Given the description of an element on the screen output the (x, y) to click on. 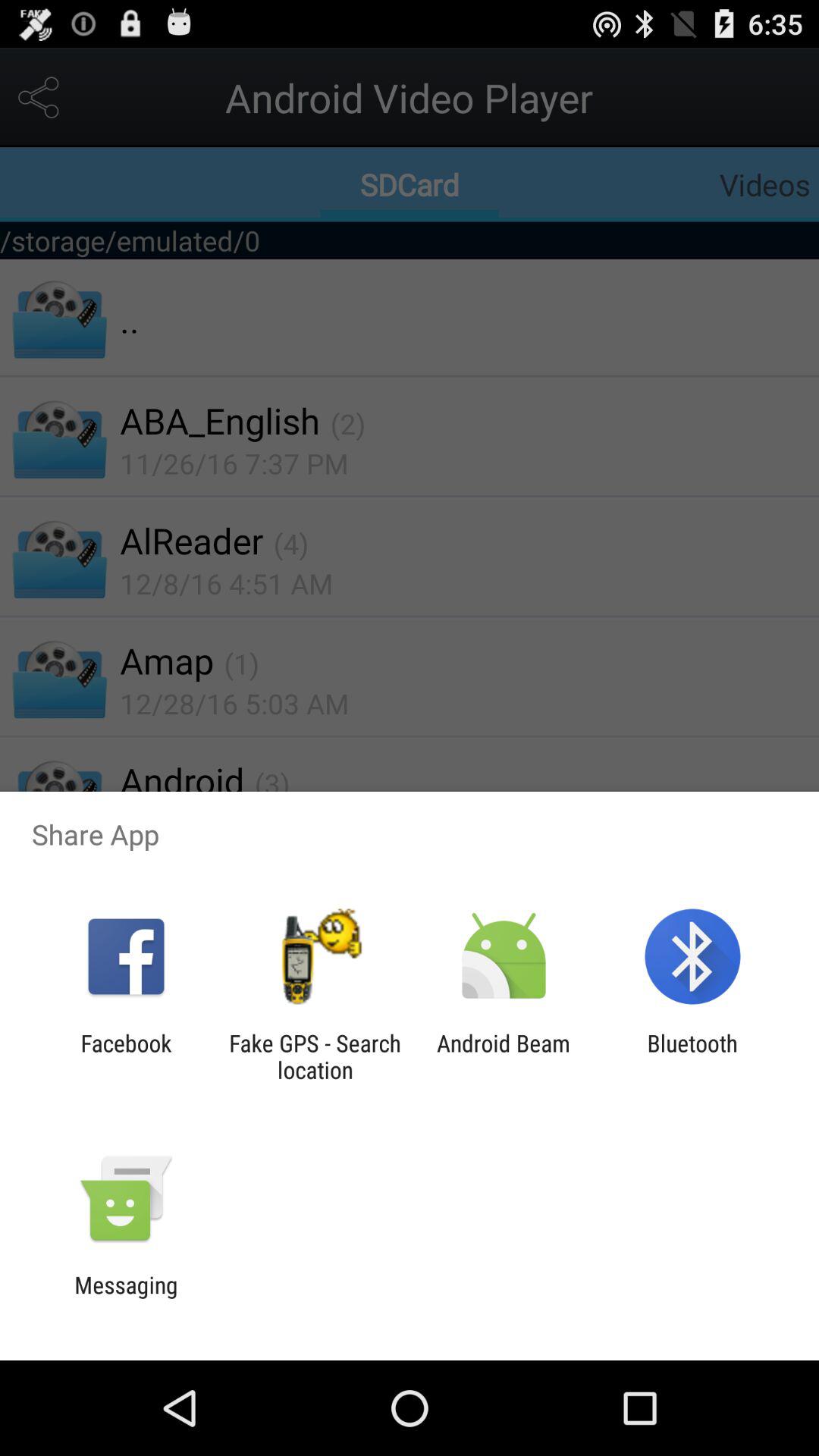
open the bluetooth at the bottom right corner (692, 1056)
